Given the description of an element on the screen output the (x, y) to click on. 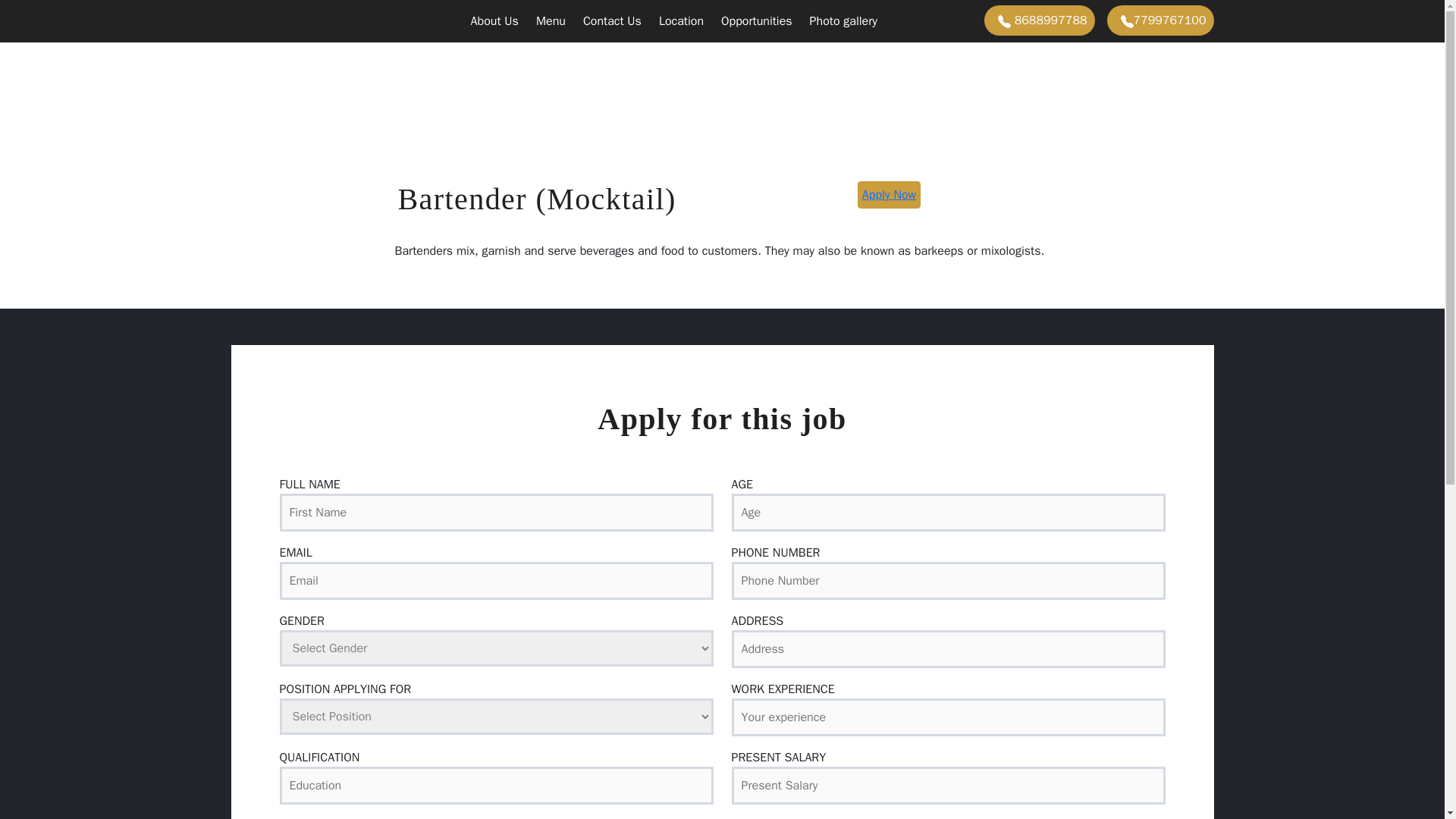
Photo gallery (840, 20)
7799767100 (1160, 20)
8688997788 (1039, 20)
Menu (548, 20)
Location (678, 20)
About Us (492, 20)
Opportunities (753, 20)
Apply Now (888, 193)
Apply Now (888, 194)
Contact Us (609, 20)
